Given the description of an element on the screen output the (x, y) to click on. 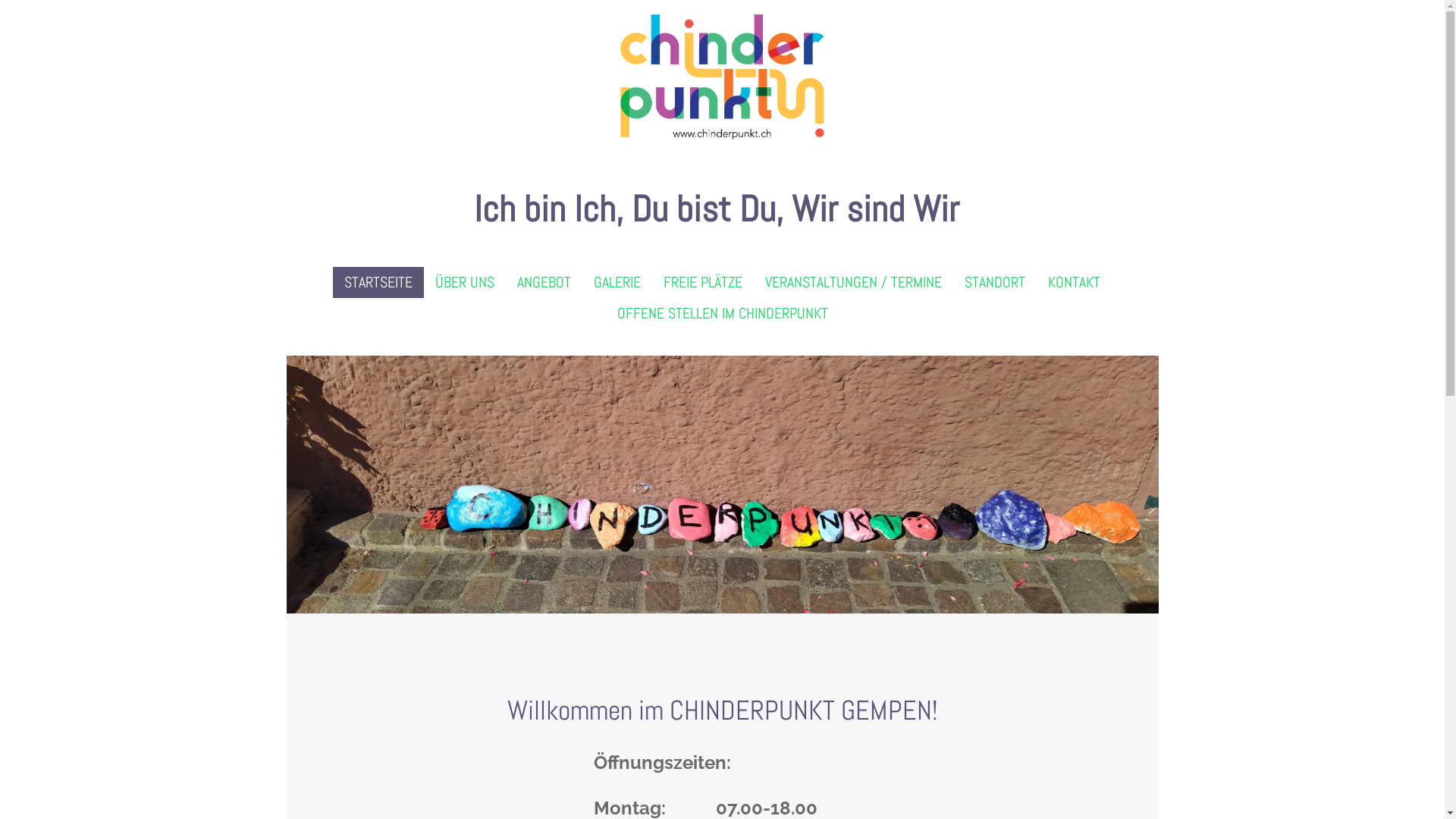
GALERIE Element type: text (617, 282)
KONTAKT Element type: text (1073, 282)
VERANSTALTUNGEN / TERMINE Element type: text (853, 282)
STANDORT Element type: text (994, 282)
STARTSEITE Element type: text (377, 282)
ANGEBOT Element type: text (543, 282)
OFFENE STELLEN IM CHINDERPUNKT Element type: text (721, 313)
